Given the description of an element on the screen output the (x, y) to click on. 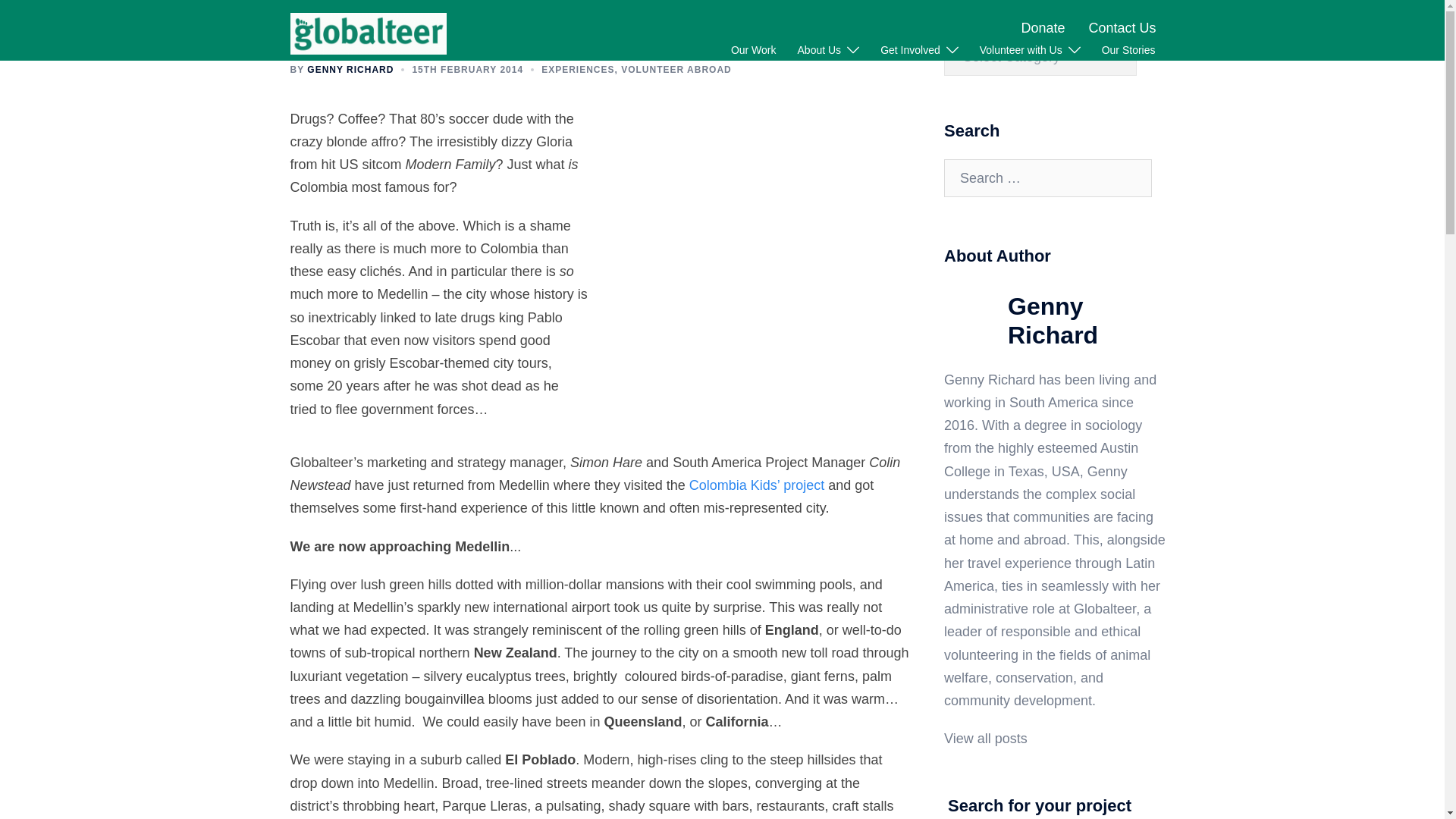
Contact Us (1121, 28)
Volunteer with Us (1020, 50)
Donate (1042, 28)
Our Work (753, 50)
Sleepy student at Cambodia Community Project (760, 216)
Get Involved (910, 50)
About Us (819, 50)
